Given the description of an element on the screen output the (x, y) to click on. 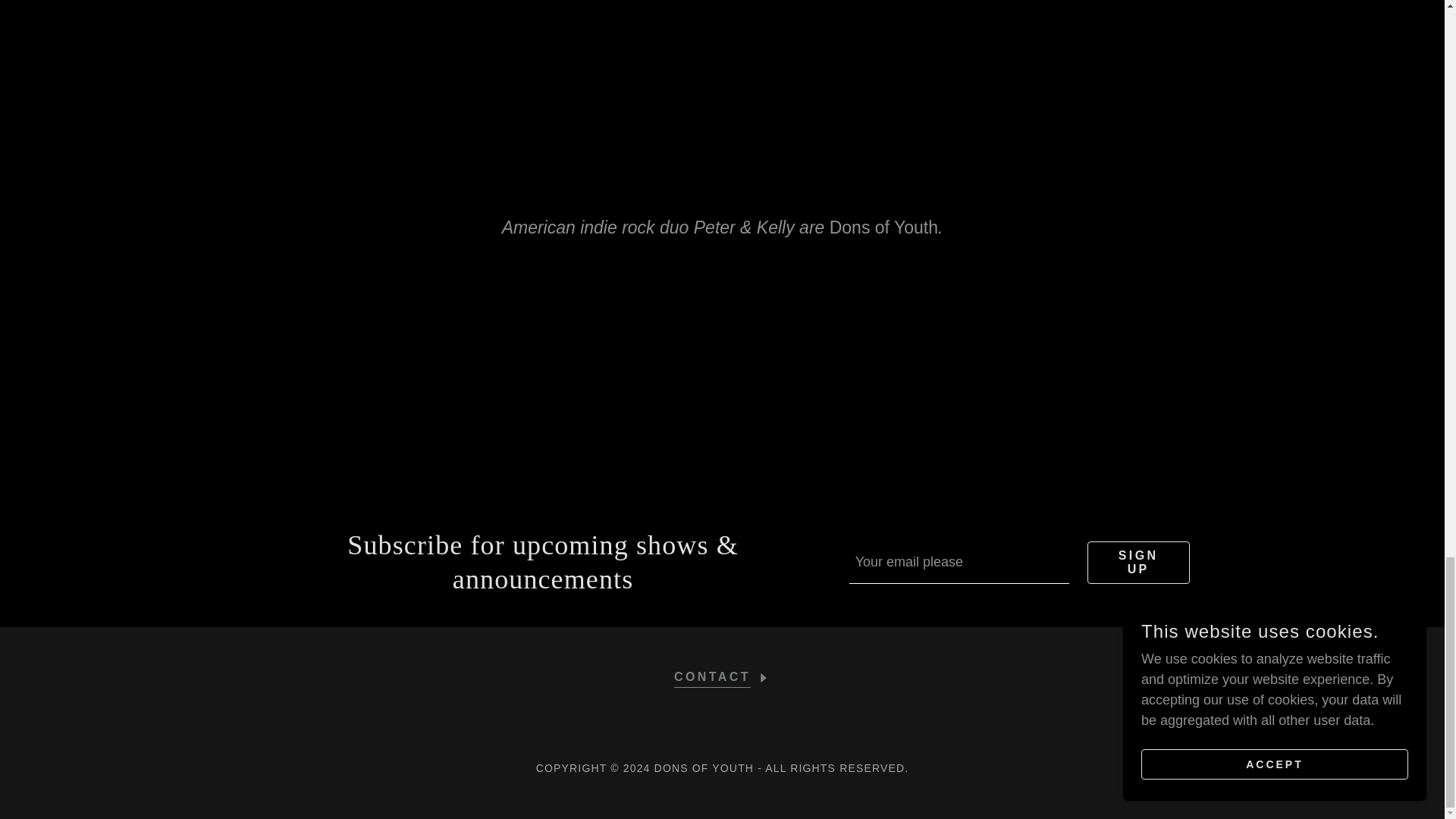
SIGN UP (1138, 562)
CONTACT (722, 672)
